Given the description of an element on the screen output the (x, y) to click on. 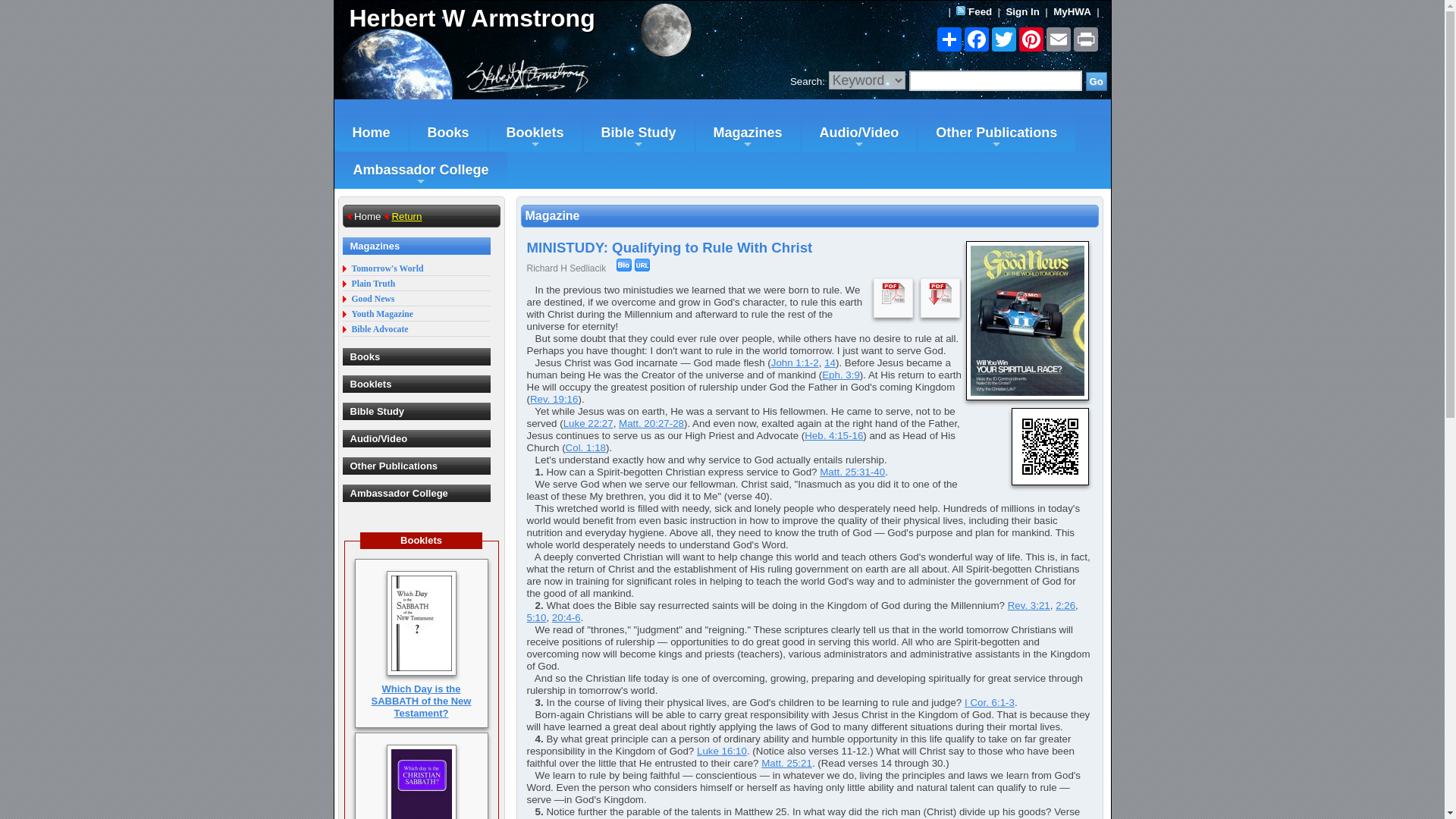
Print (1085, 39)
Feed (979, 11)
Share (949, 39)
Sign In (1022, 11)
MyHWA (1071, 11)
Books (448, 132)
Pinterest (1031, 39)
Click here to link to this Good News Magazine article. (641, 264)
Home (370, 132)
Go (1096, 81)
Twitter (1003, 39)
